Given the description of an element on the screen output the (x, y) to click on. 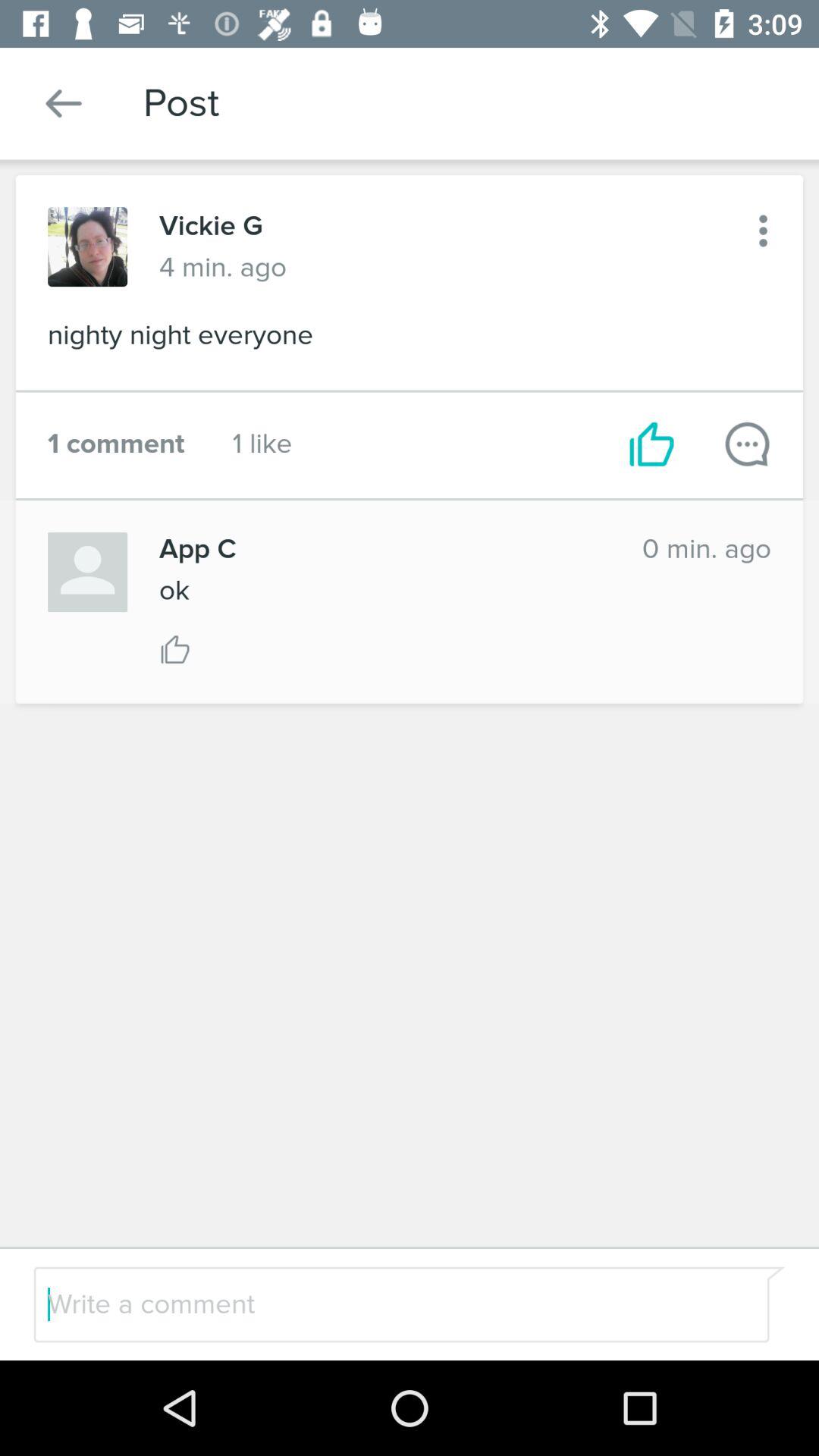
comment on post (747, 444)
